Given the description of an element on the screen output the (x, y) to click on. 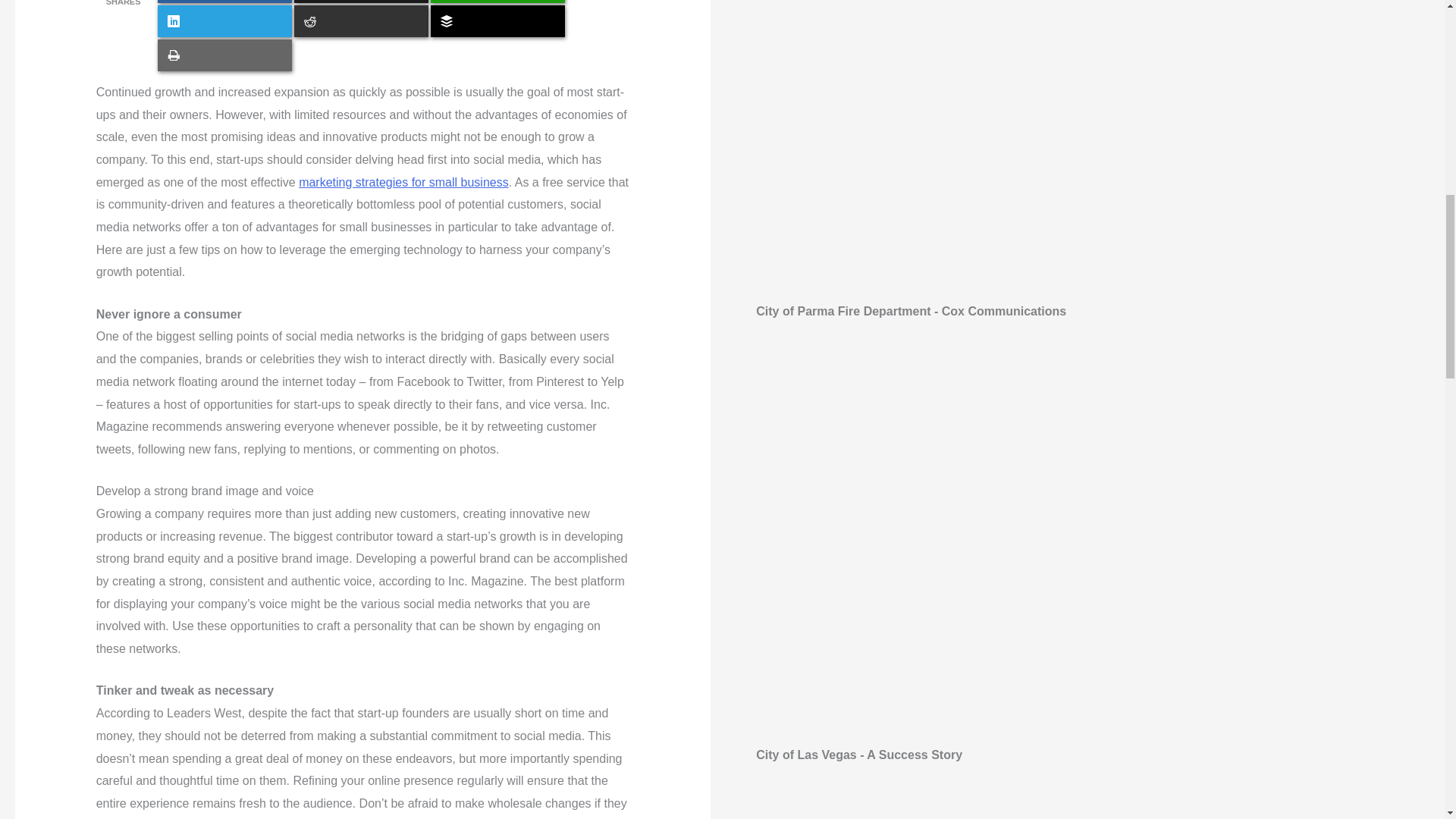
Empowering State and Local Government Operations (1092, 809)
